Given the description of an element on the screen output the (x, y) to click on. 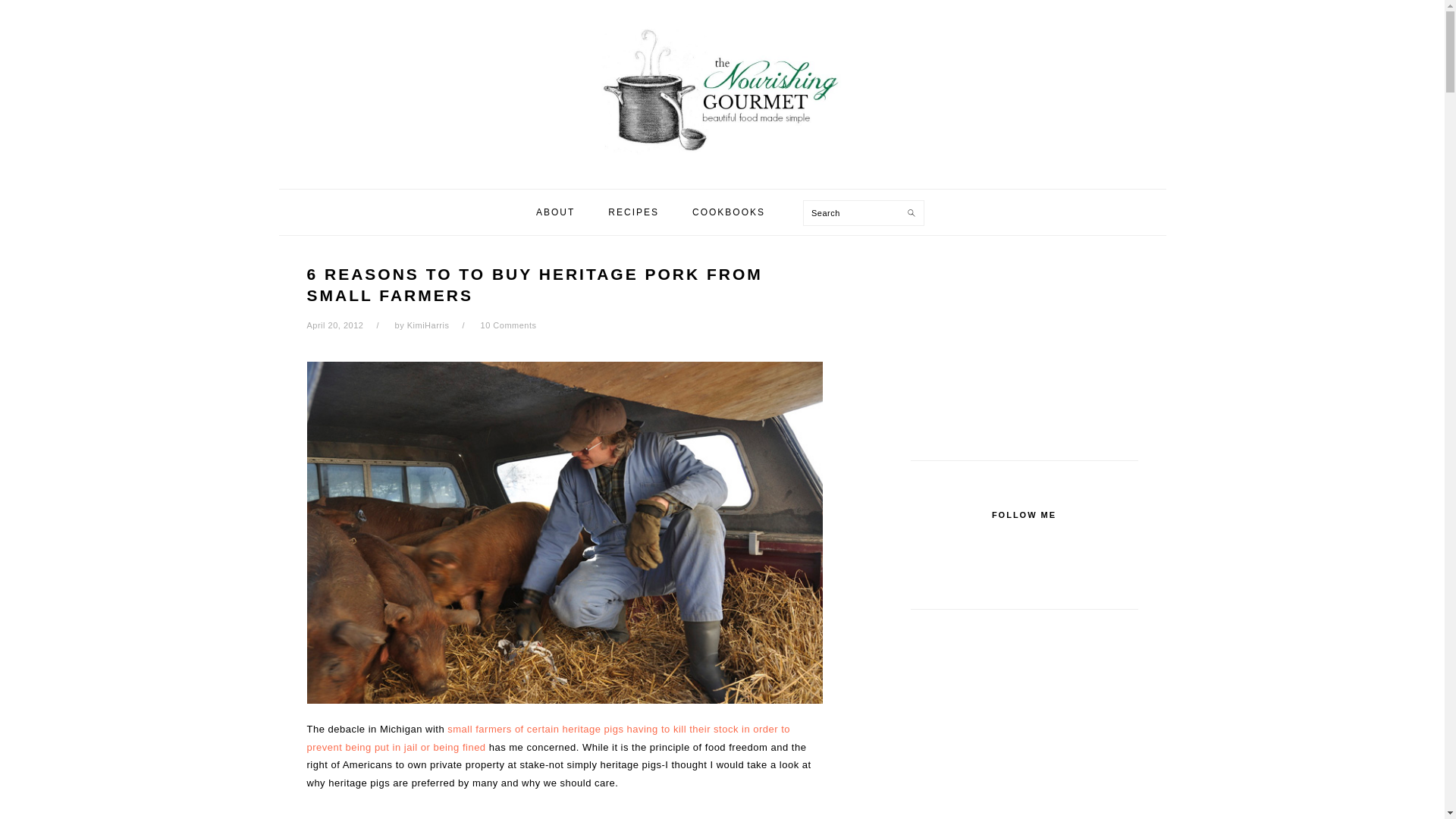
10 Comments (508, 325)
THE NOURISHING GOURMET (721, 89)
KimiHarris (428, 325)
ABOUT (555, 212)
RECIPES (633, 212)
COOKBOOKS (728, 212)
